Given the description of an element on the screen output the (x, y) to click on. 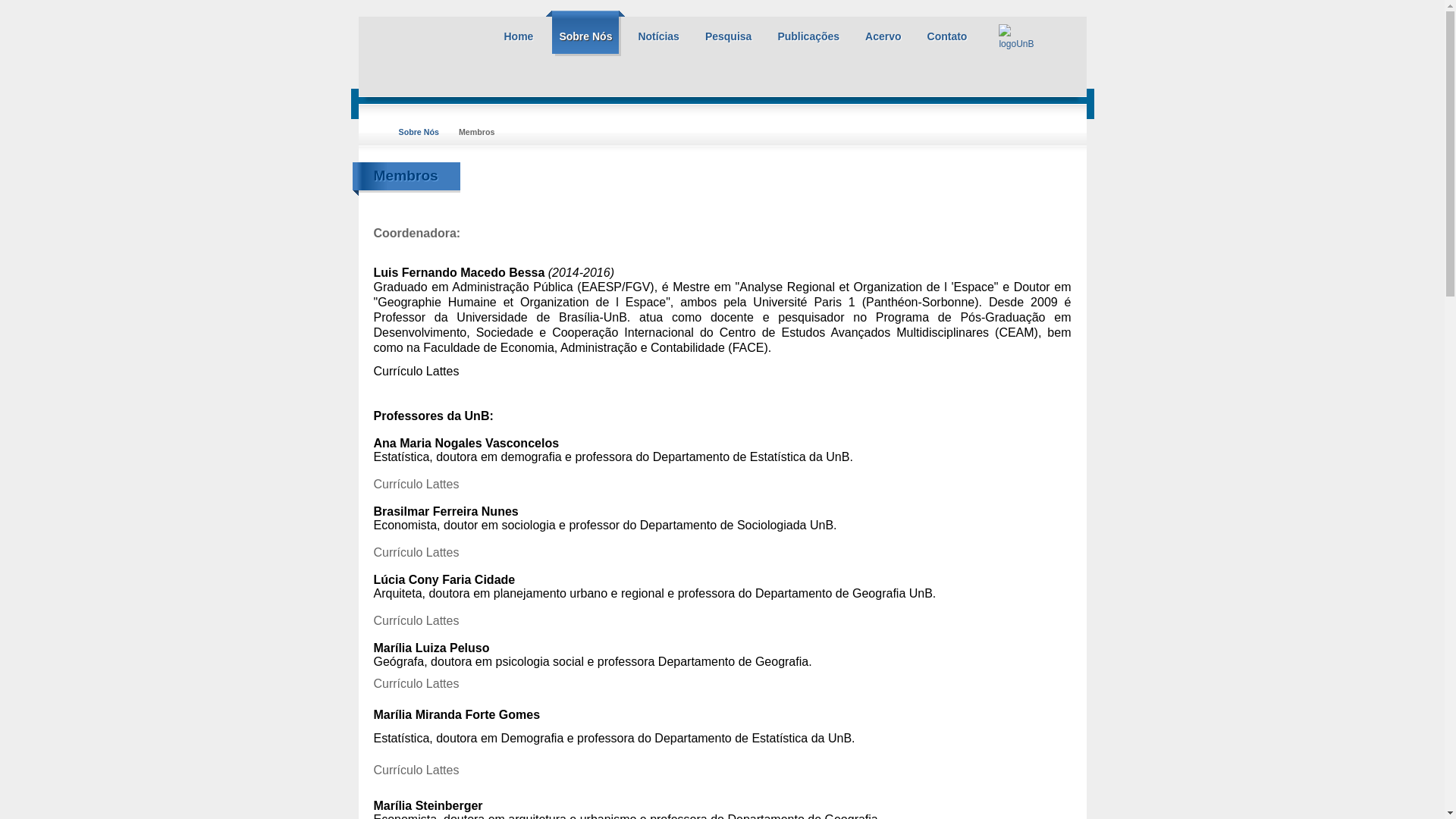
Membros Element type: text (405, 175)
Pesquisa Element type: text (728, 33)
Home Element type: text (518, 33)
Contato Element type: text (947, 33)
Acervo Element type: text (882, 33)
